Given the description of an element on the screen output the (x, y) to click on. 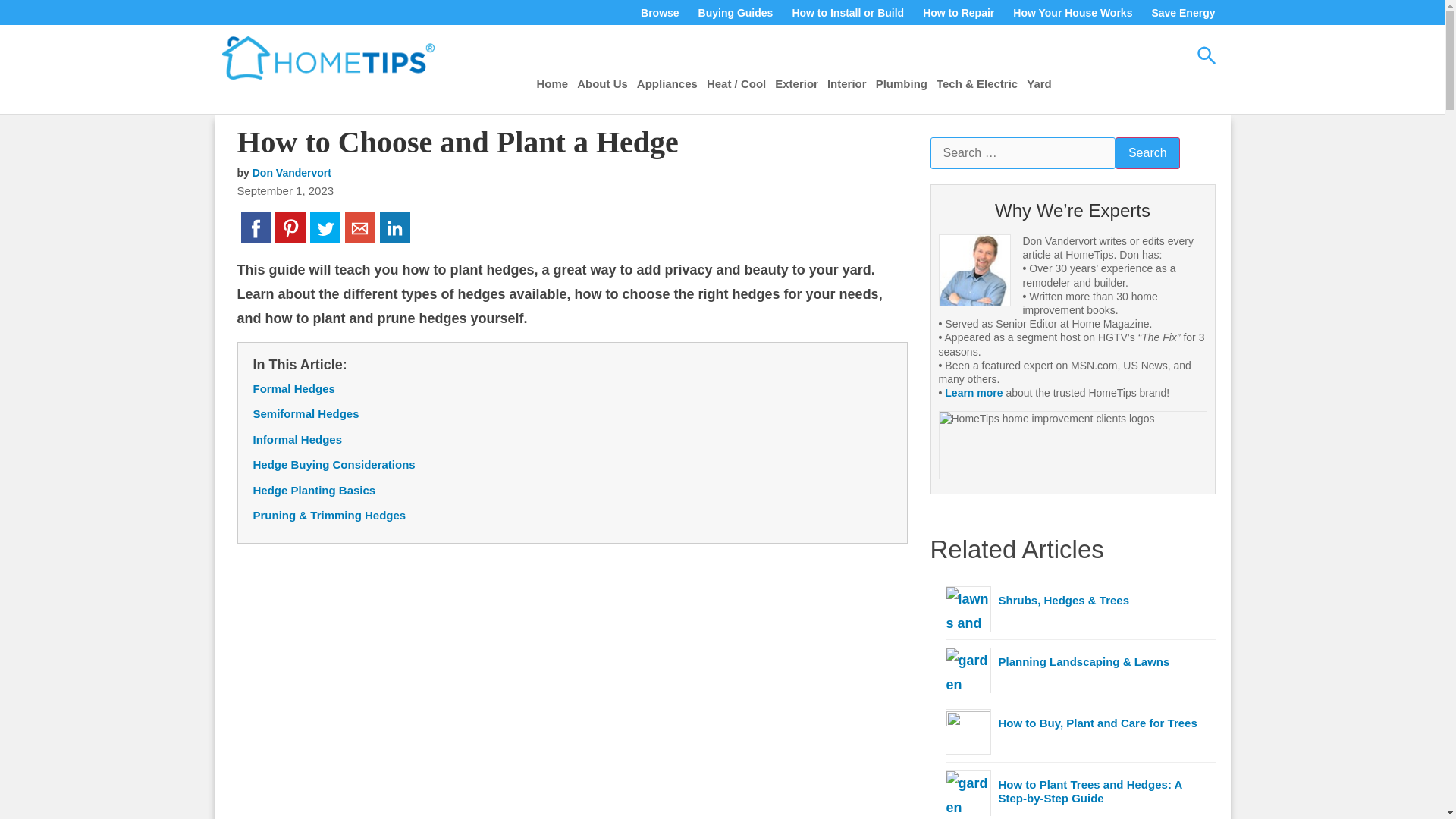
About Us (601, 83)
Browse (659, 12)
Buying Guides (735, 12)
Search (1147, 152)
Search Icon A magnifying glass icon. (1205, 54)
Appliances (667, 83)
About Us (601, 83)
Save Energy (1182, 12)
How to Repair (957, 12)
How to Install or Build (847, 12)
